Given the description of an element on the screen output the (x, y) to click on. 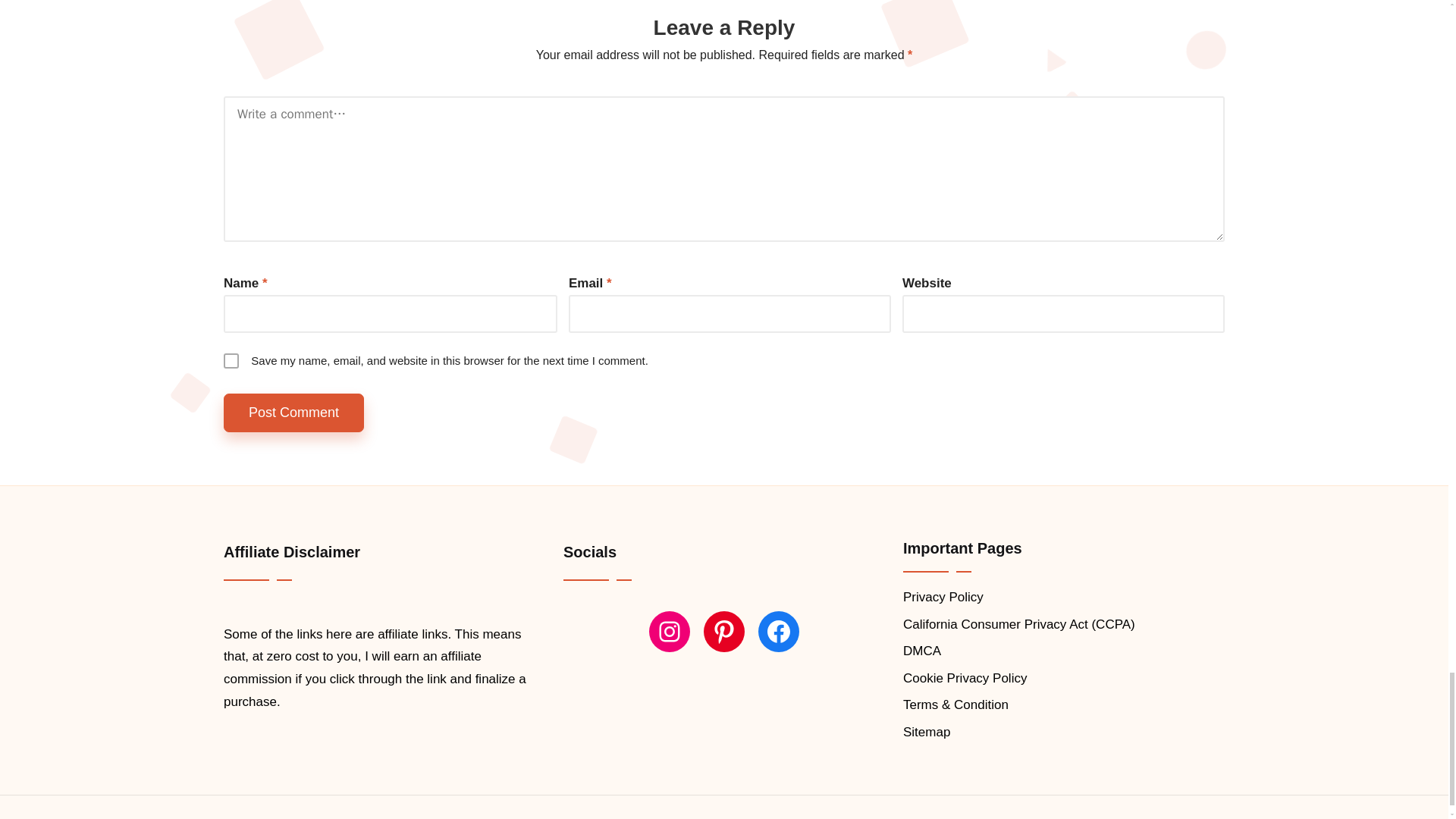
yes (231, 360)
Post Comment (294, 412)
